Given the description of an element on the screen output the (x, y) to click on. 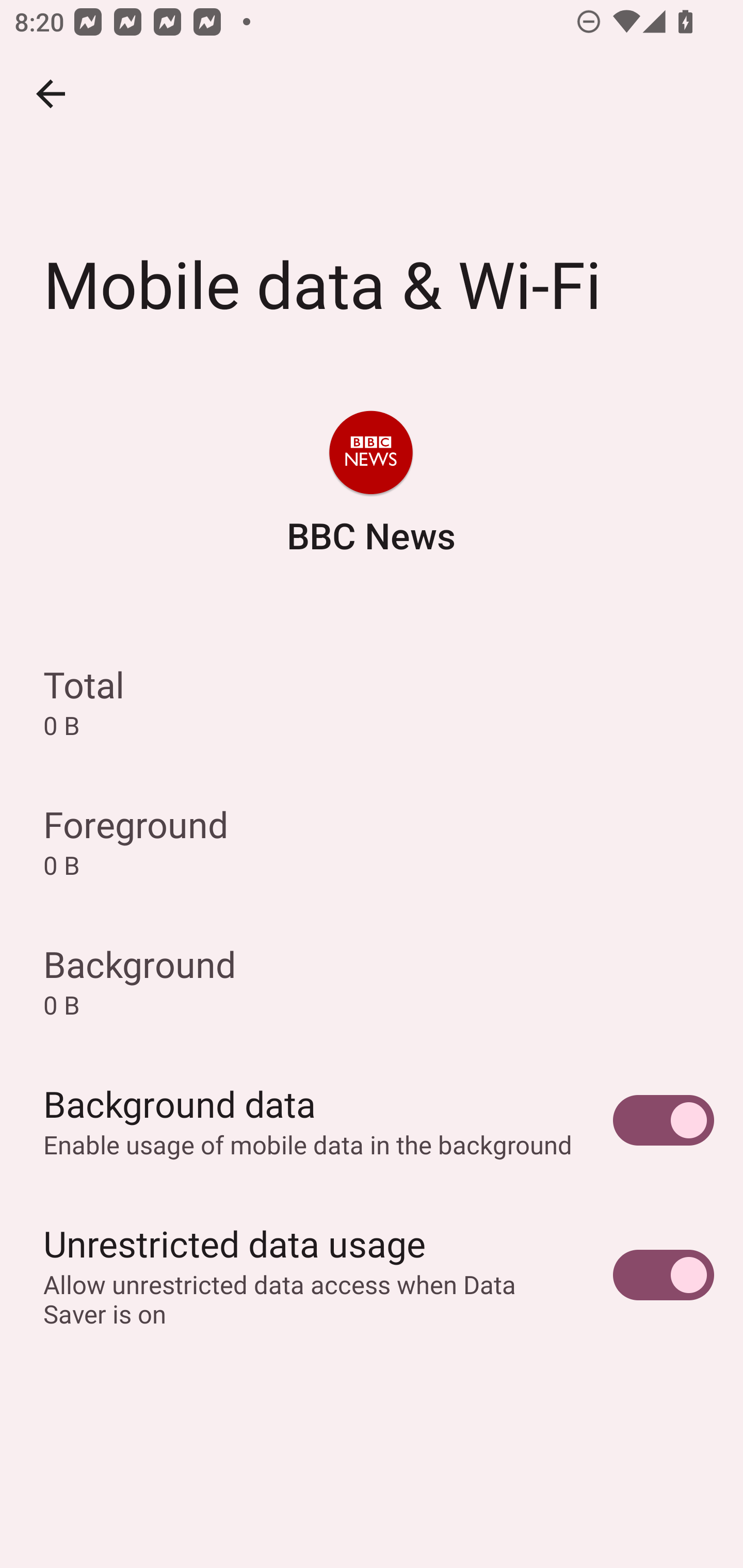
Navigate up (50, 93)
BBC News (370, 484)
